Given the description of an element on the screen output the (x, y) to click on. 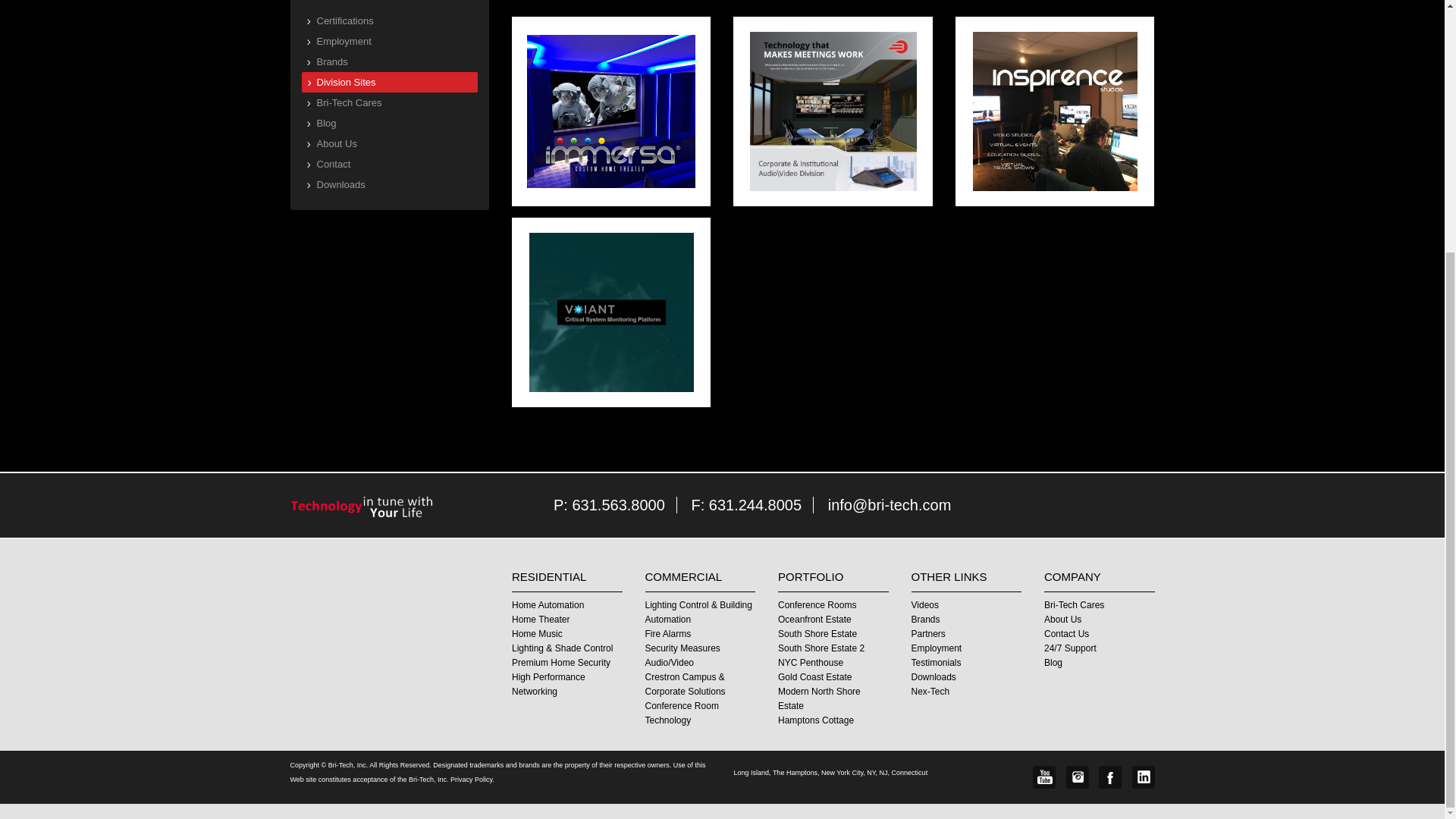
Privacy Policy (470, 778)
